Given the description of an element on the screen output the (x, y) to click on. 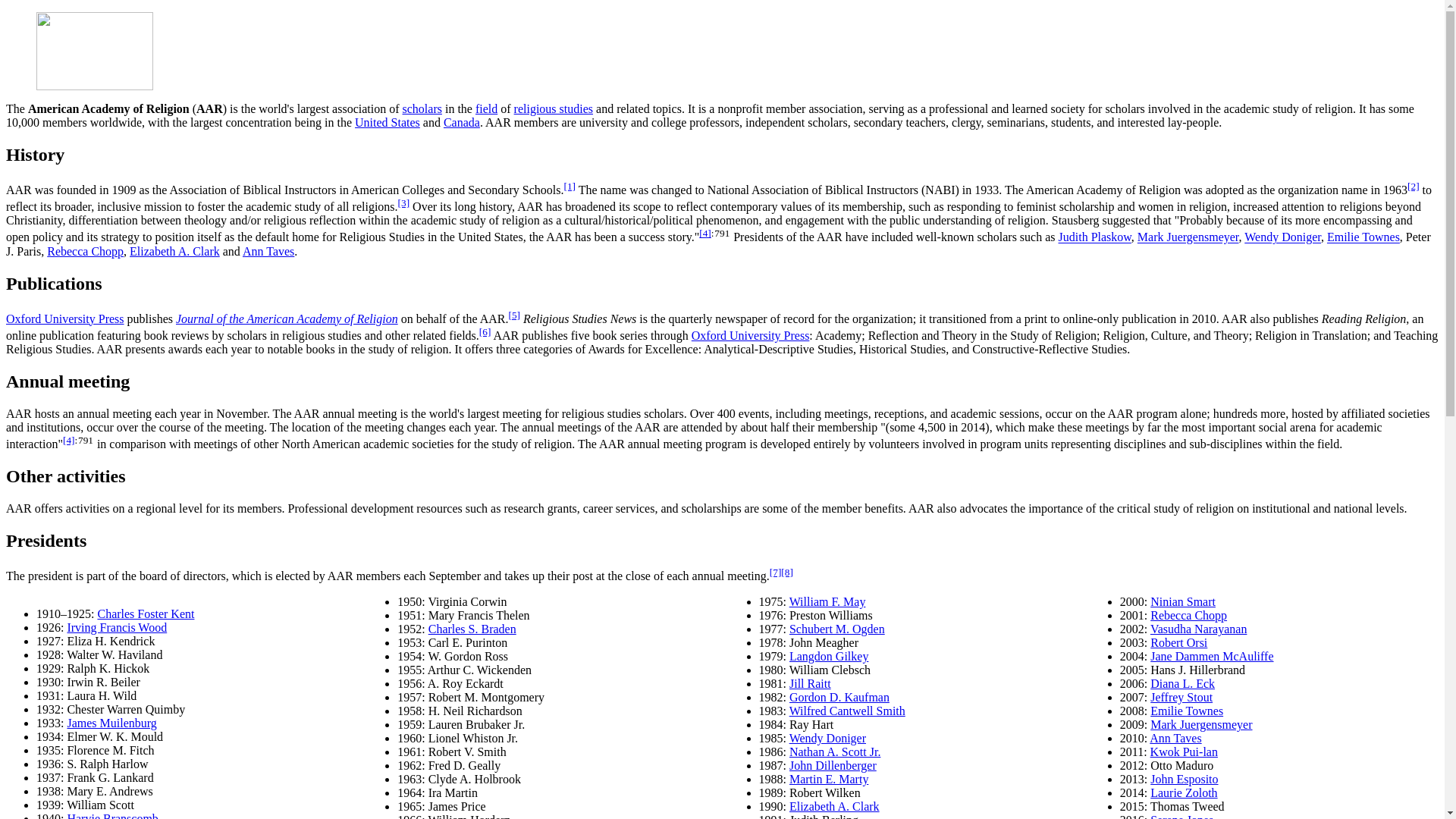
Oxford University Press (750, 335)
Ann Taves (268, 250)
religious studies (552, 108)
field (486, 108)
Charles S. Braden (472, 628)
Harvie Branscomb (111, 815)
Emilie Townes (1362, 237)
United States (387, 122)
Religious studies (552, 108)
Wendy Doniger (1282, 237)
Journal of the American Academy of Religion (286, 318)
Emilie Townes (1362, 237)
Canada (462, 122)
Rebecca Chopp (84, 250)
Ann Taves (268, 250)
